Given the description of an element on the screen output the (x, y) to click on. 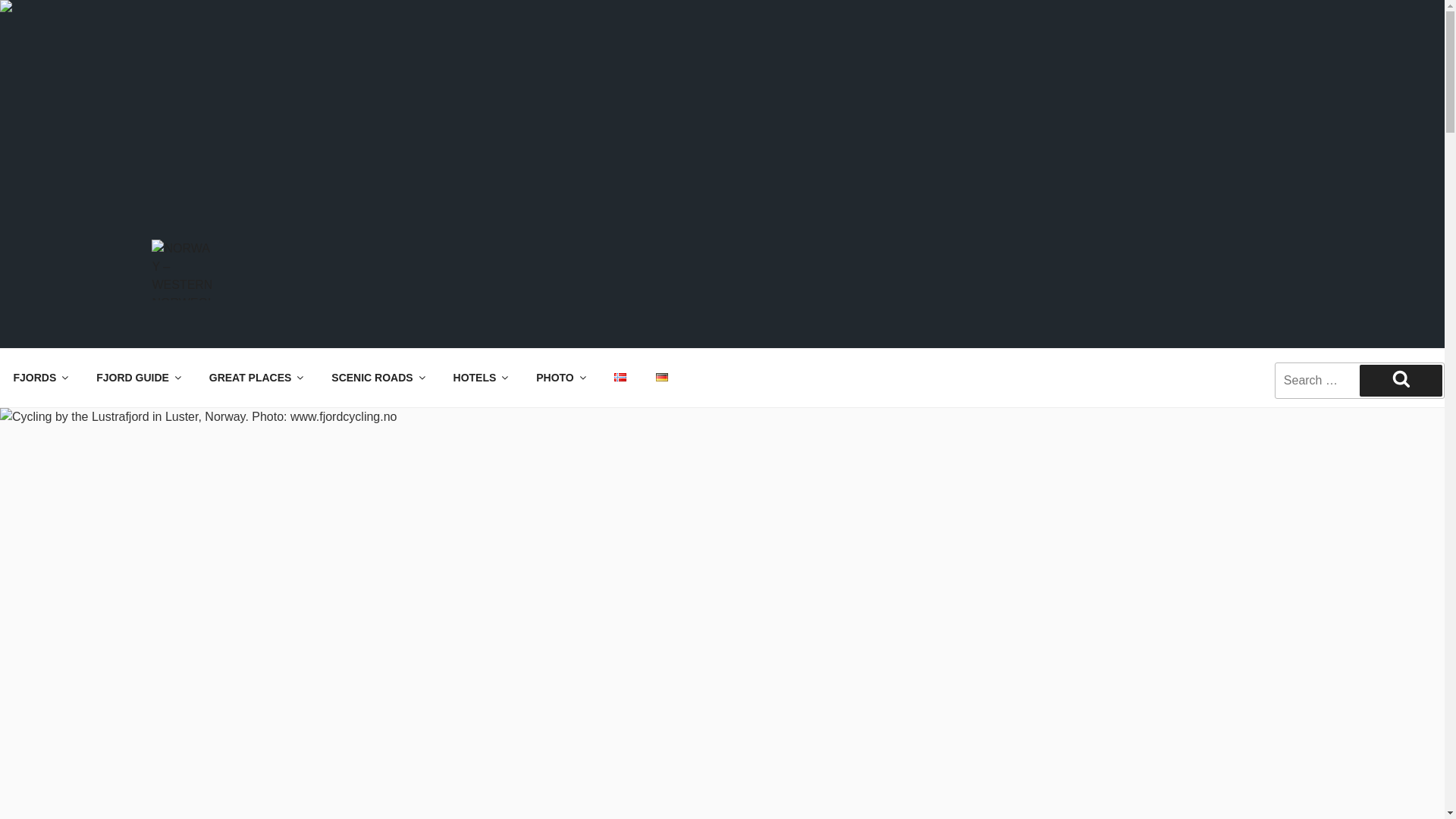
FJORD GUIDE (137, 377)
FJORDS (40, 377)
GREAT PLACES (255, 377)
